Given the description of an element on the screen output the (x, y) to click on. 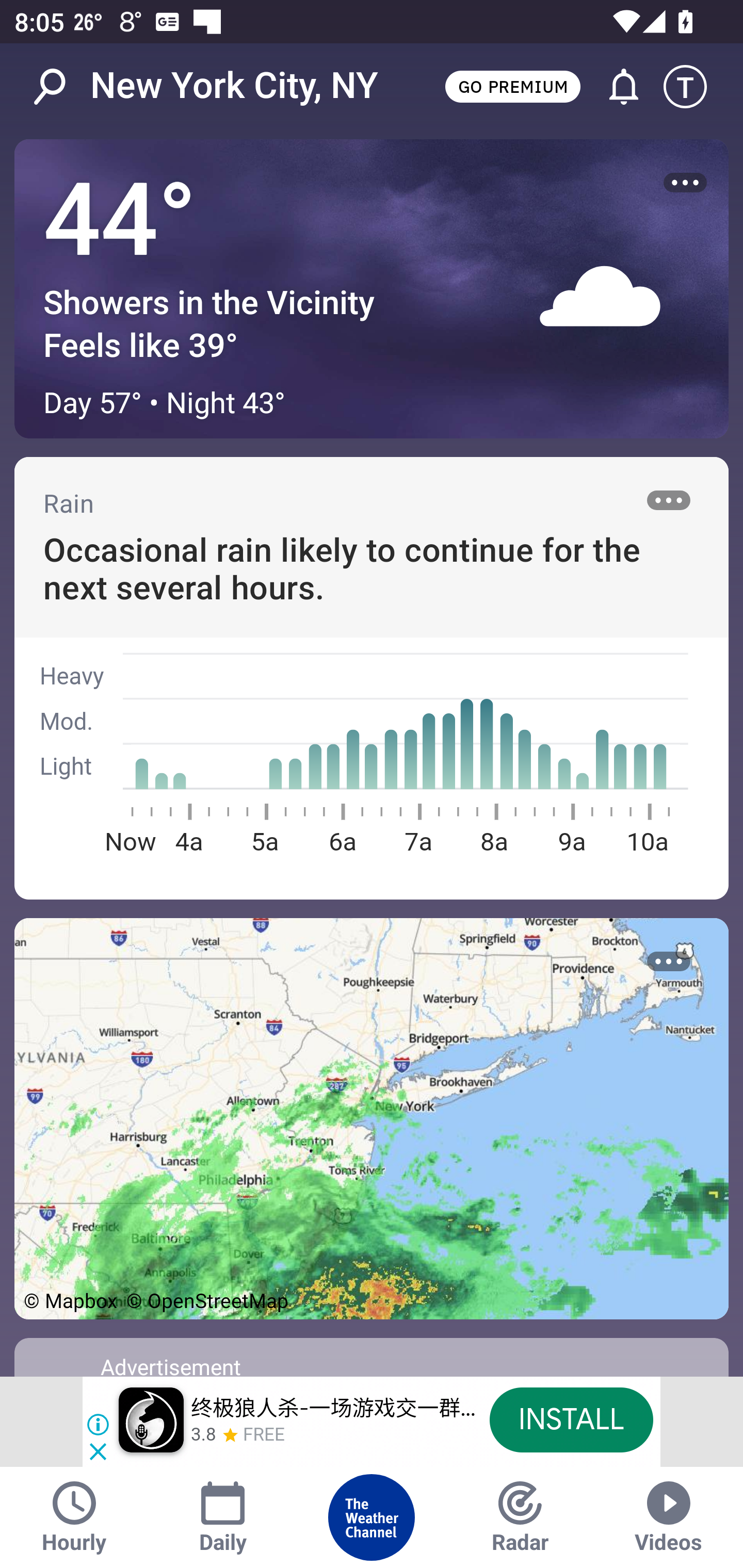
Search (59, 86)
Go to Alerts and Notifications (614, 86)
Setting icon T (694, 86)
New York City, NY (234, 85)
GO PREMIUM (512, 85)
More options (684, 182)
More options (668, 500)
See Map Details (371, 1118)
More options (668, 961)
Hourly Tab Hourly (74, 1517)
Daily Tab Daily (222, 1517)
Radar Tab Radar (519, 1517)
Videos Tab Videos (668, 1517)
